Given the description of an element on the screen output the (x, y) to click on. 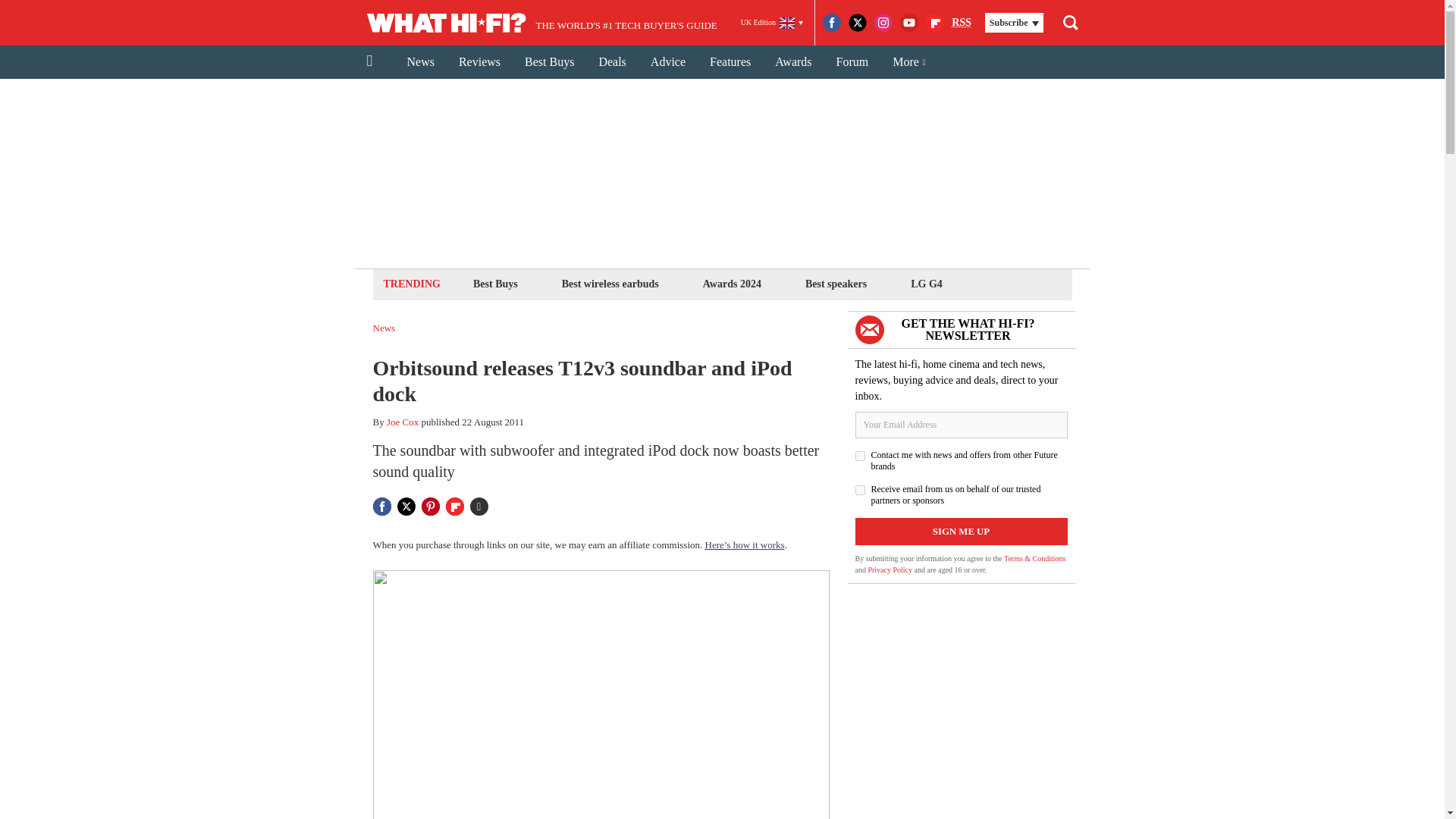
Best Buys (549, 61)
Joe Cox (403, 421)
Forum (852, 61)
LG G4 (926, 283)
Really Simple Syndication (961, 21)
Deals (611, 61)
RSS (961, 22)
UK Edition (771, 22)
Features (729, 61)
Best speakers (835, 283)
